Given the description of an element on the screen output the (x, y) to click on. 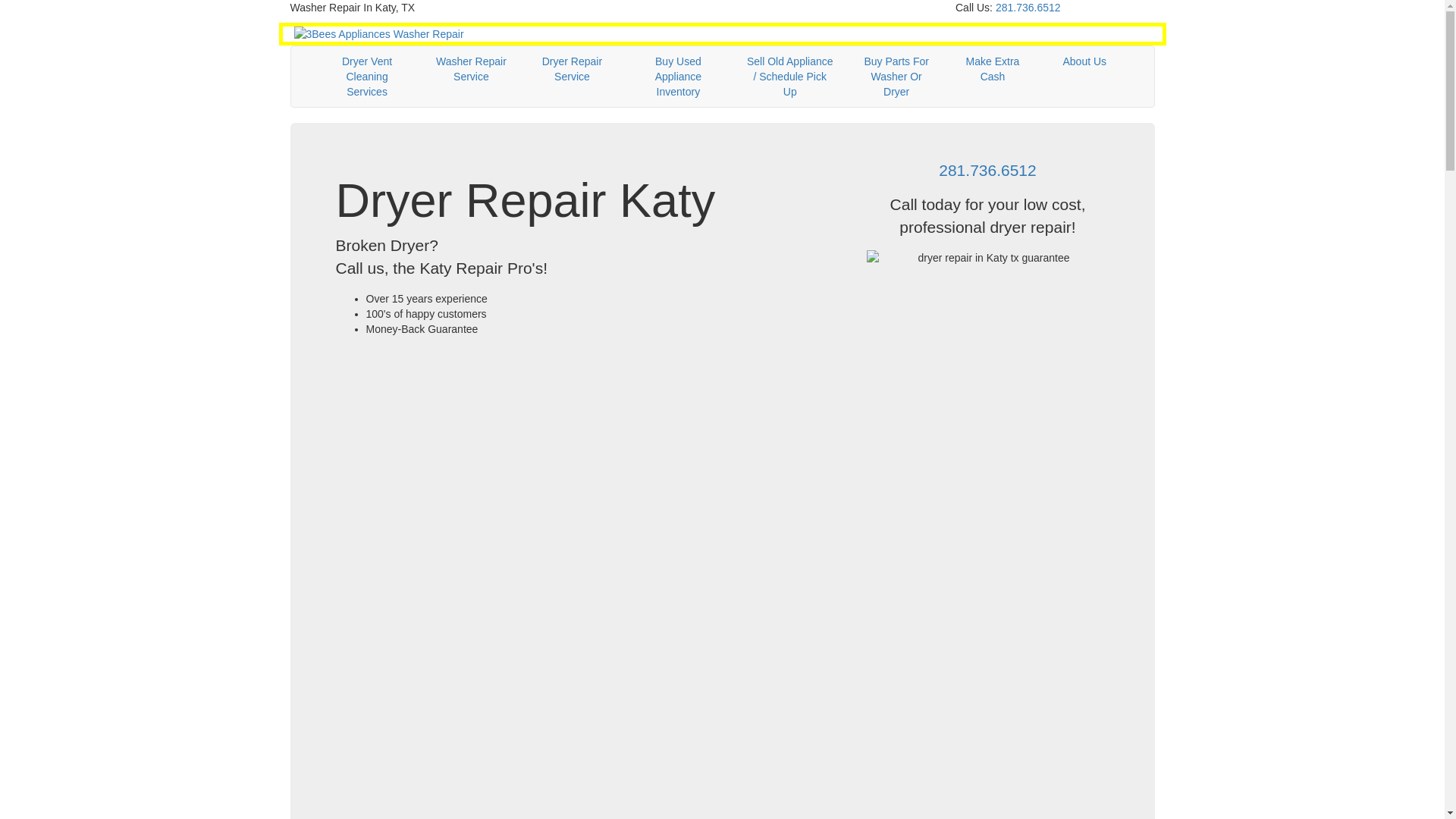
Advertisement Element type: hover (589, 685)
About Us Element type: text (1084, 61)
281.736.6512 Element type: text (986, 169)
Buy Parts For Washer Or Dryer Element type: text (896, 76)
Washer Repair Service Element type: text (471, 68)
Dryer Repair Service Element type: text (571, 68)
Advertisement Element type: hover (589, 473)
Sell Old Appliance / Schedule Pick Up Element type: text (789, 76)
Dryer Vent Cleaning Services Element type: text (366, 76)
281.736.6512 Element type: text (1027, 7)
Make Extra Cash Element type: text (992, 68)
Buy Used Appliance Inventory Element type: text (678, 76)
